Given the description of an element on the screen output the (x, y) to click on. 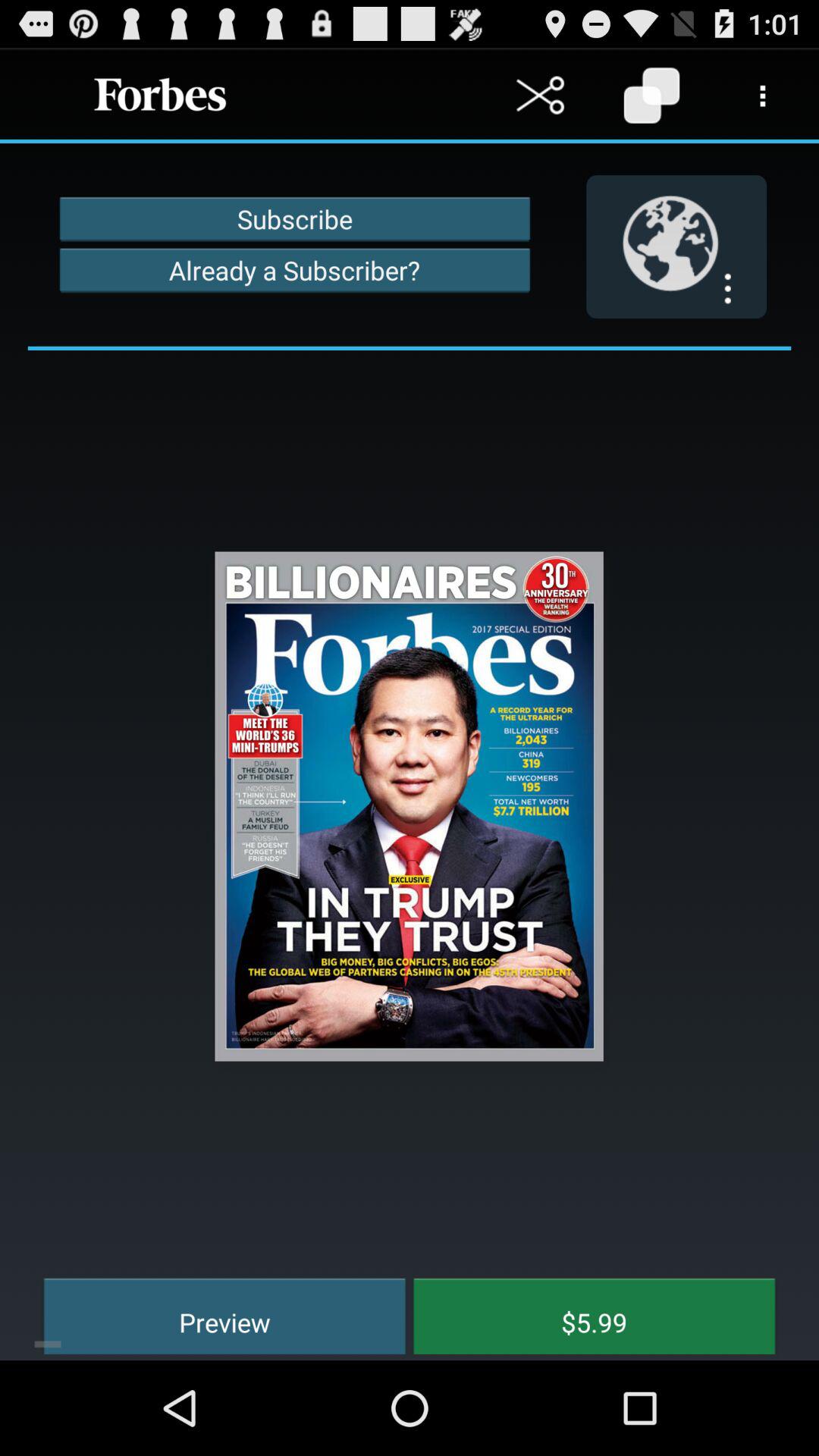
launch the preview (213, 1314)
